Given the description of an element on the screen output the (x, y) to click on. 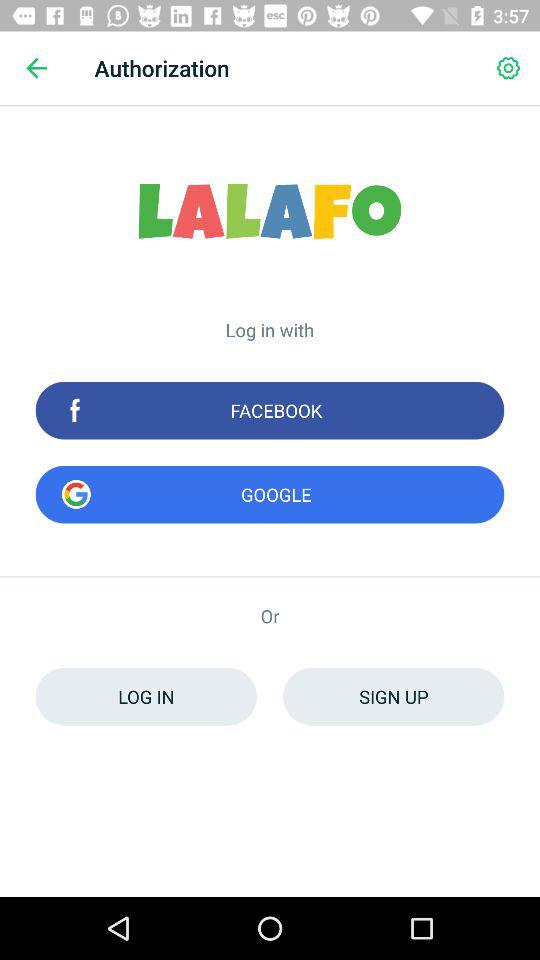
launch the icon at the top right corner (508, 67)
